Given the description of an element on the screen output the (x, y) to click on. 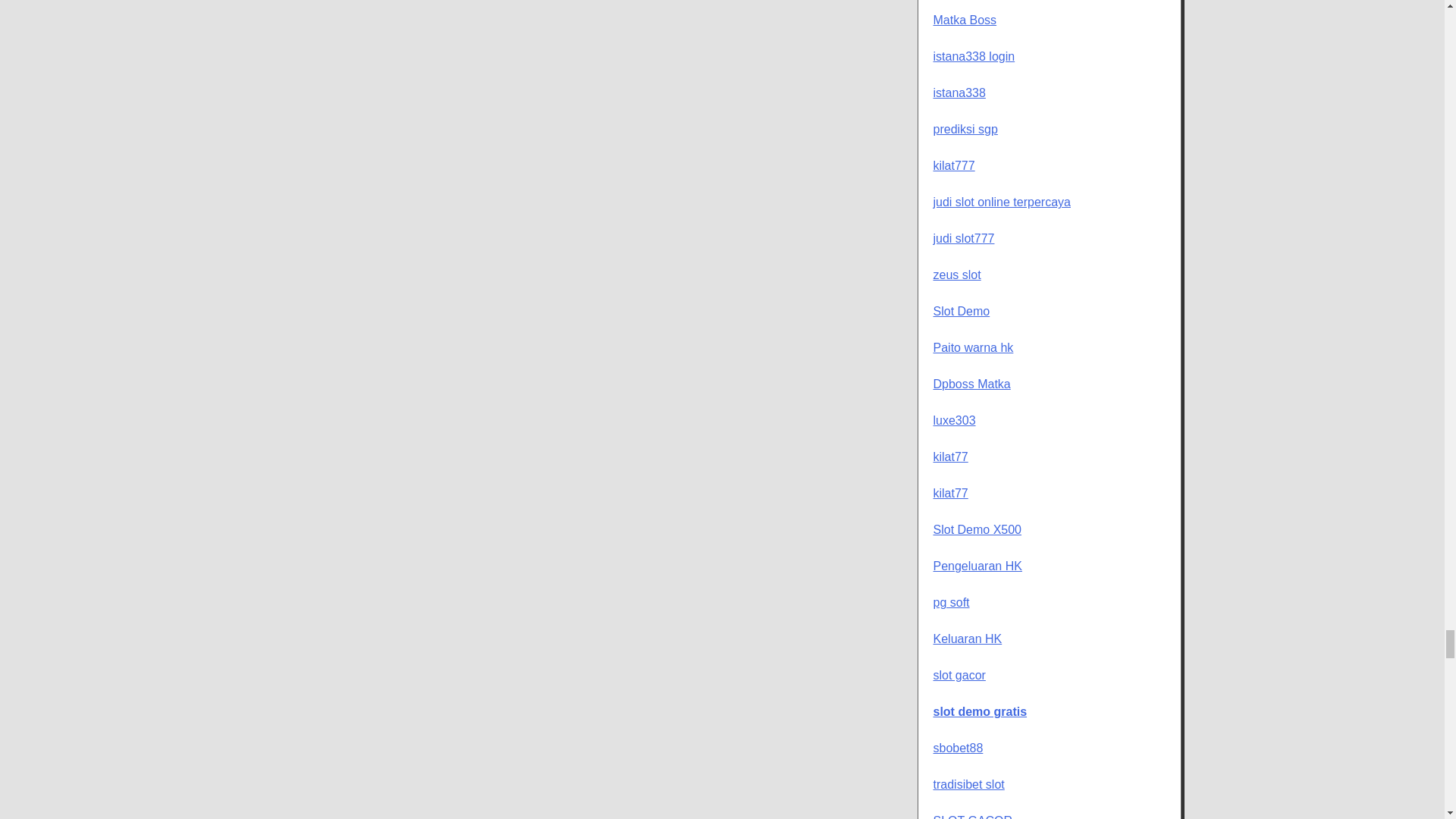
Dpboss Matka (971, 383)
